Given the description of an element on the screen output the (x, y) to click on. 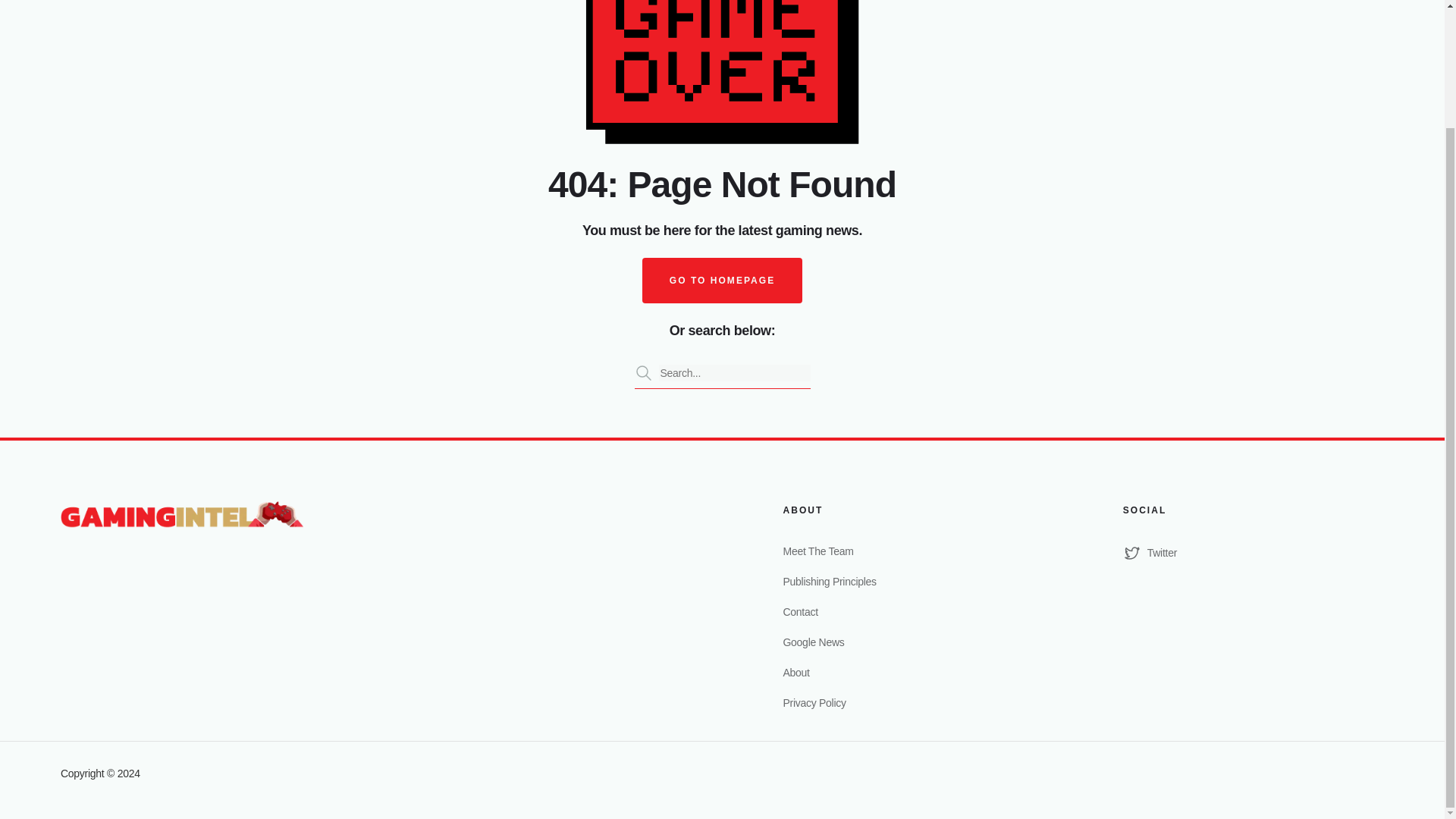
Publishing Principles (913, 581)
Google News (913, 642)
Contact (913, 611)
GO TO HOMEPAGE (722, 280)
Meet The Team (913, 550)
About (913, 672)
Privacy Policy (913, 702)
Twitter (1253, 552)
